Given the description of an element on the screen output the (x, y) to click on. 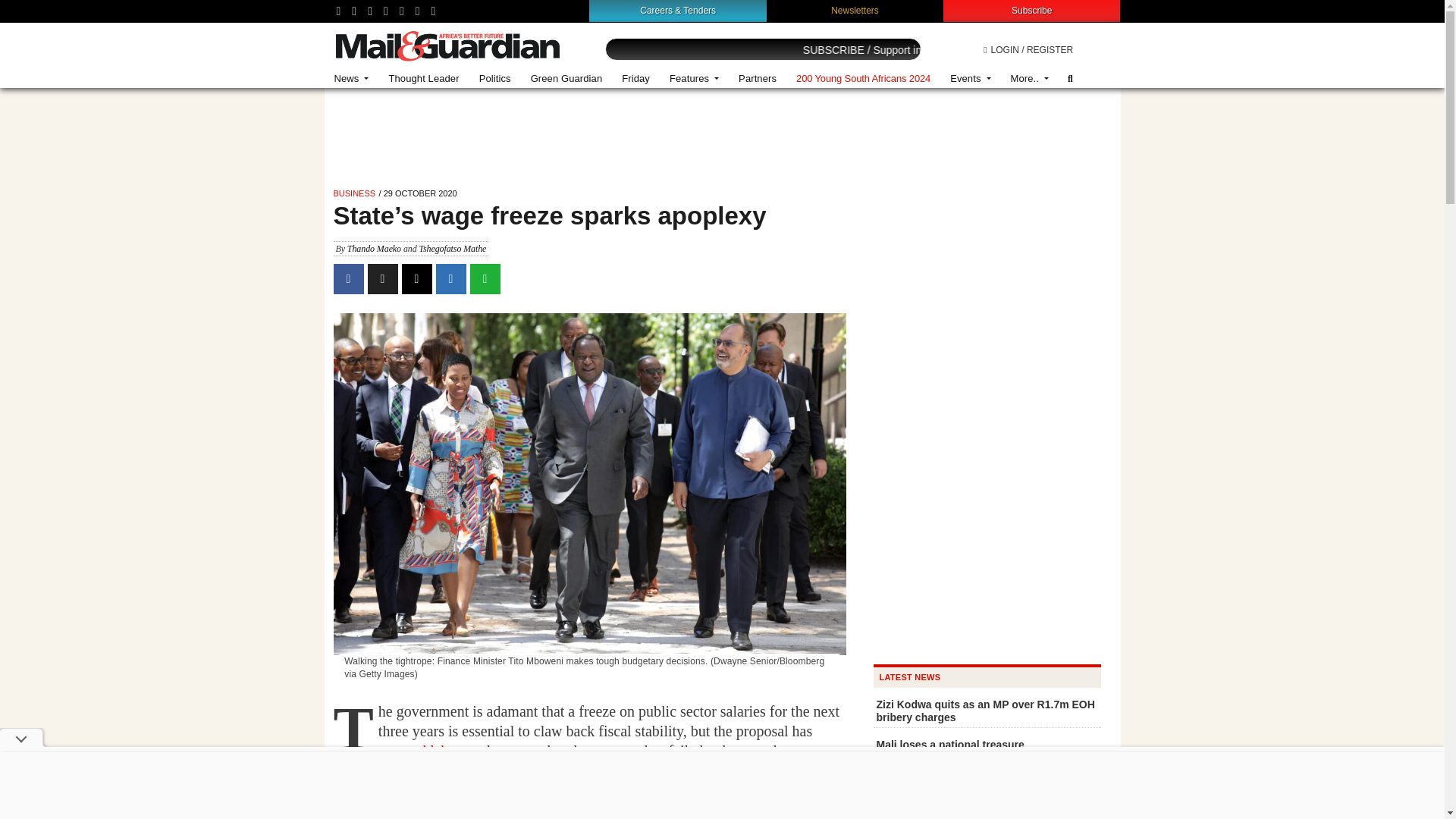
Thought Leader (423, 78)
Newsletters (855, 9)
Subscribe (1031, 9)
News (351, 78)
Politics (494, 78)
News (351, 78)
Friday (635, 78)
Features (694, 78)
Green Guardian (566, 78)
